Given the description of an element on the screen output the (x, y) to click on. 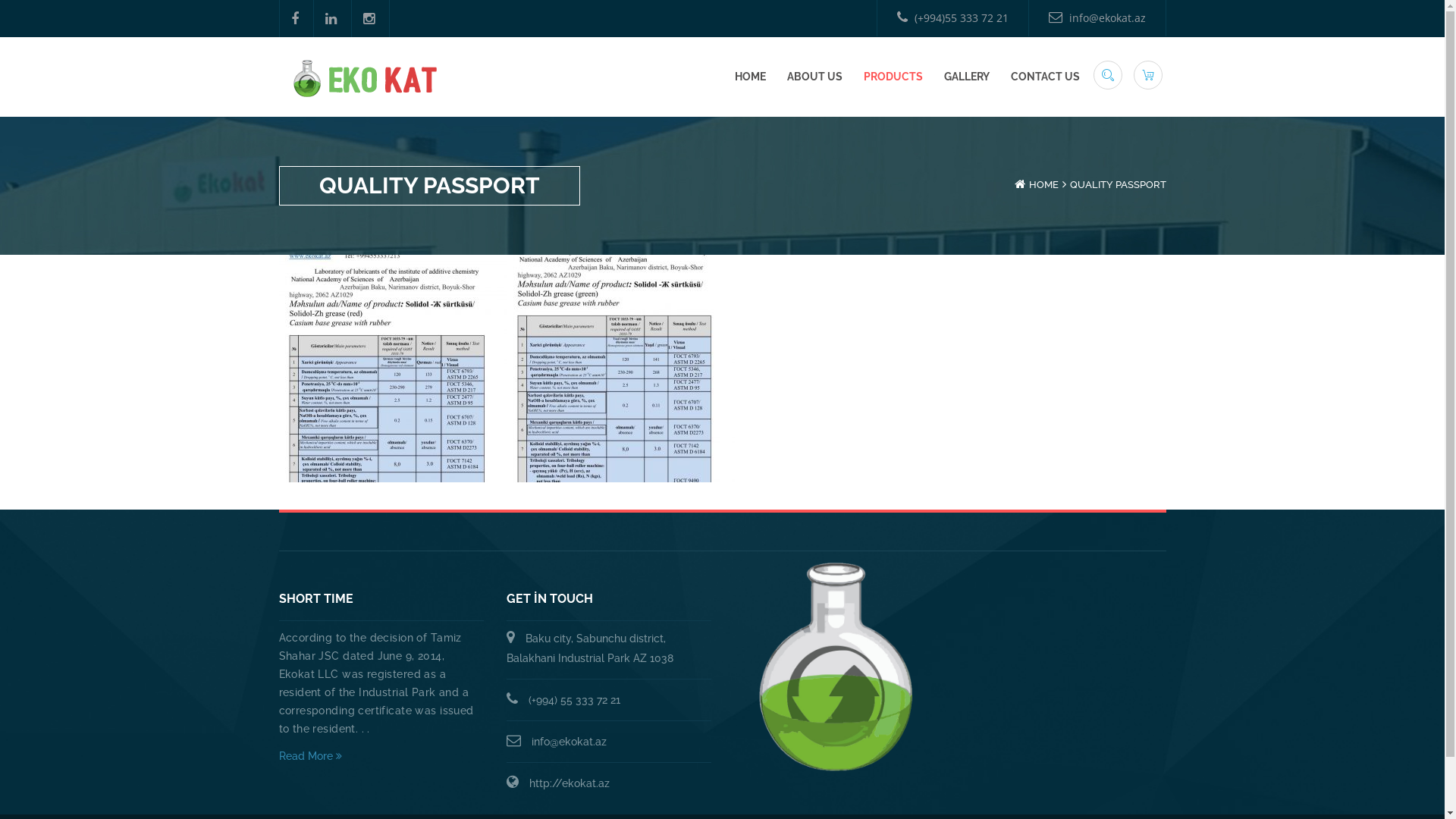
GALLERY Element type: text (965, 76)
CONTACT US Element type: text (1044, 76)
(+994)55 333 72 21 Element type: text (952, 18)
http://ekokat.az Element type: text (569, 783)
PRODUCTS Element type: text (892, 76)
info@ekokat.az Element type: text (1097, 18)
Read More Element type: text (381, 755)
HOME Element type: text (1042, 184)
19 Element type: hover (392, 368)
info@ekokat.az Element type: text (567, 741)
ABOUT US Element type: text (814, 76)
HOME Element type: text (749, 76)
20 Element type: hover (620, 368)
